Given the description of an element on the screen output the (x, y) to click on. 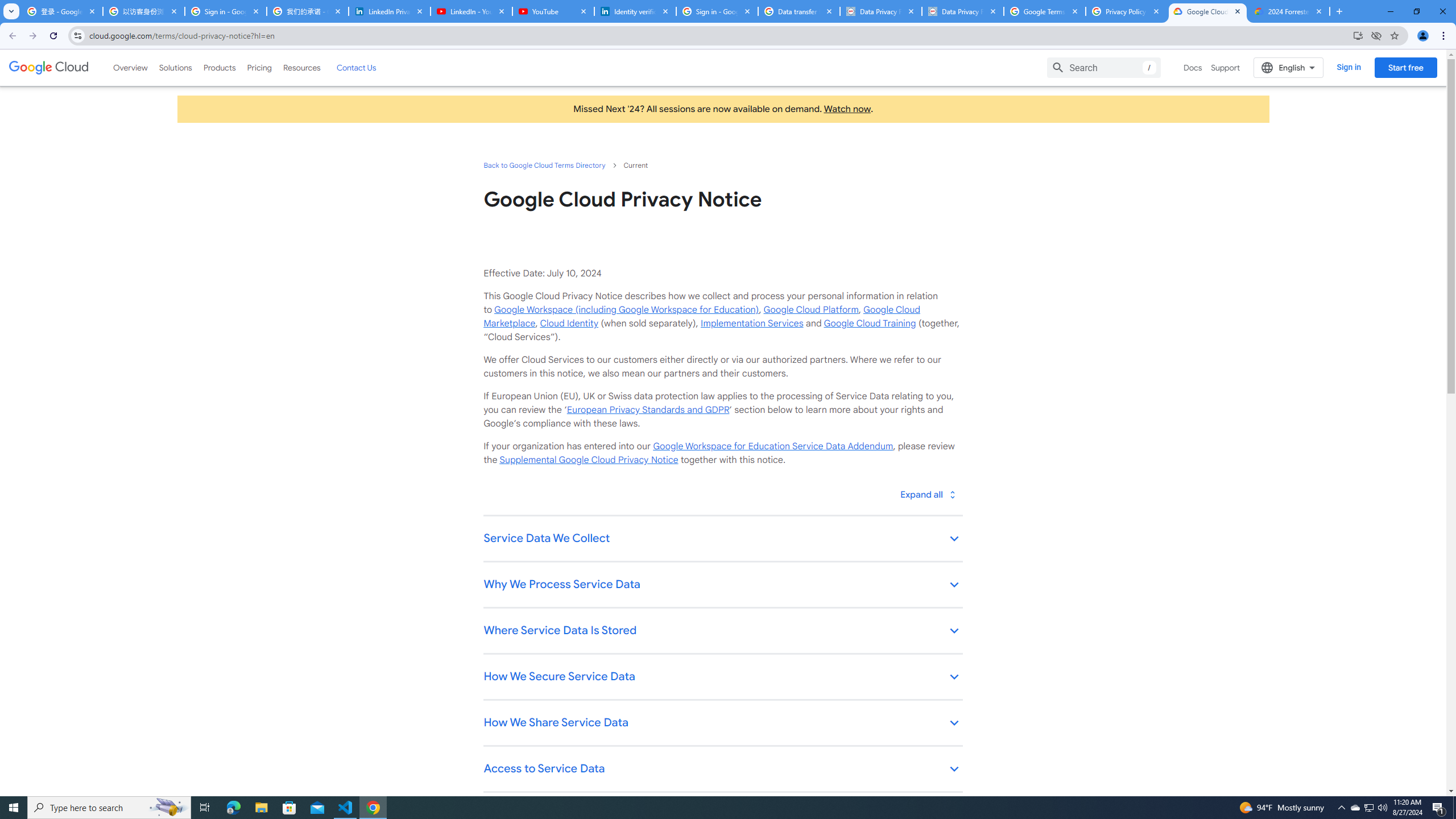
LinkedIn - YouTube (470, 11)
Pricing (259, 67)
European Privacy Standards and GDPR (647, 410)
How We Share Service Data keyboard_arrow_down (722, 723)
How We Secure Service Data keyboard_arrow_down (722, 677)
Products (218, 67)
